Given the description of an element on the screen output the (x, y) to click on. 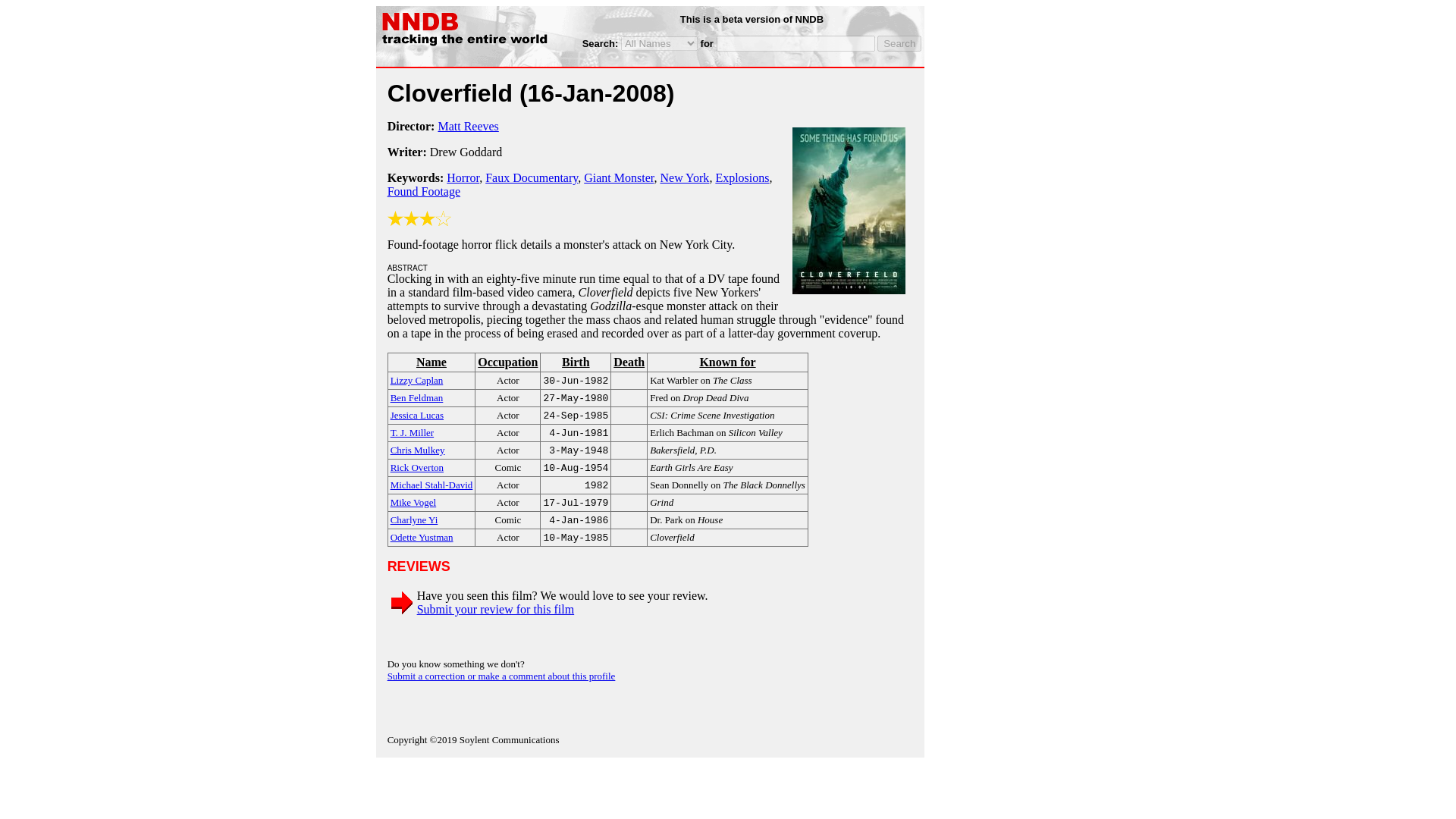
Occupation (507, 362)
Death (628, 362)
Michael Stahl-David (431, 483)
Submit your review for this film (495, 608)
Explosions (741, 177)
Submit a correction or make a comment about this profile (501, 675)
Giant Monster (618, 177)
Faux Documentary (531, 177)
Search (899, 43)
T. J. Miller (411, 431)
